Given the description of an element on the screen output the (x, y) to click on. 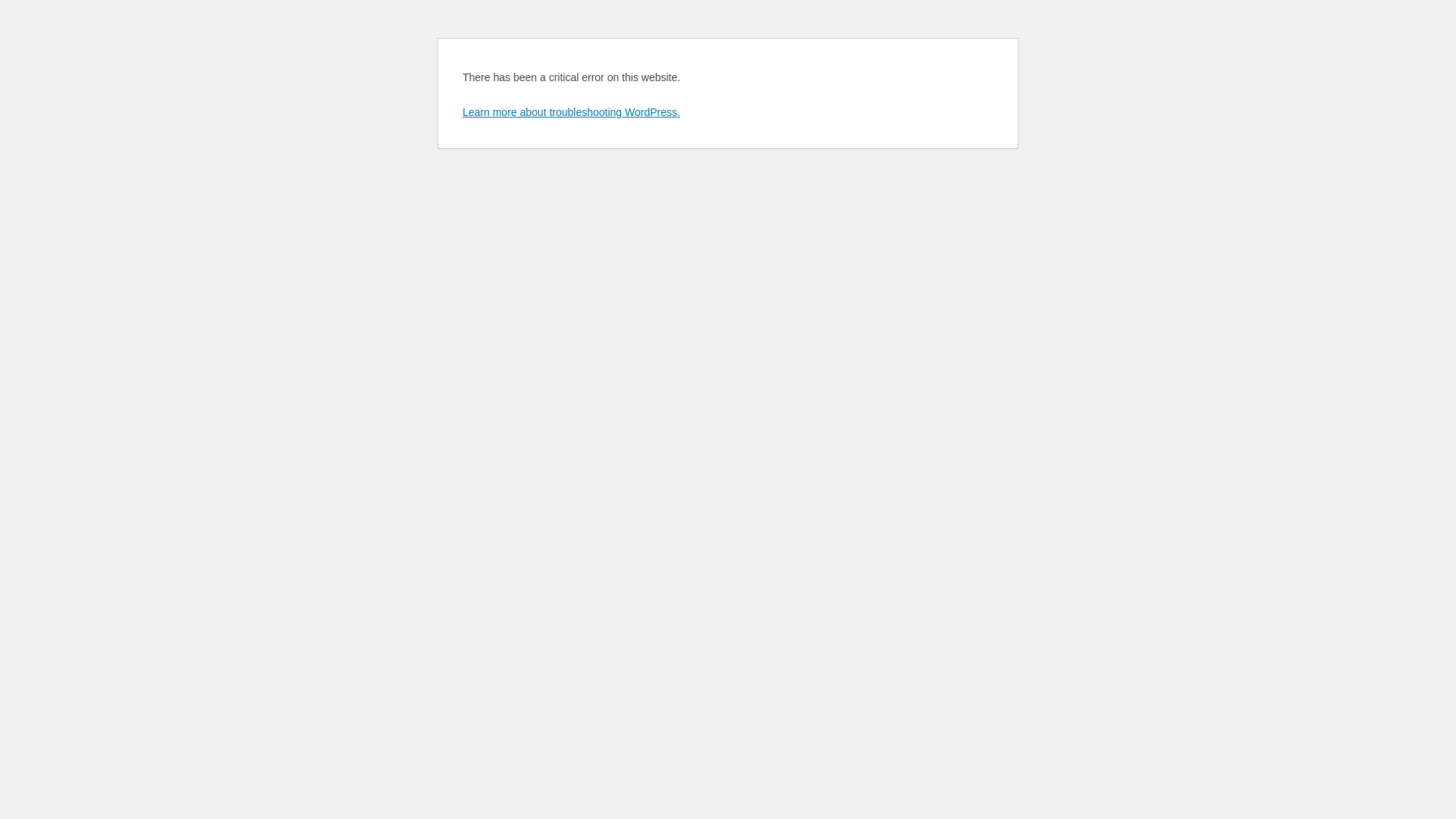
Learn more about troubleshooting WordPress. Element type: text (571, 112)
